Given the description of an element on the screen output the (x, y) to click on. 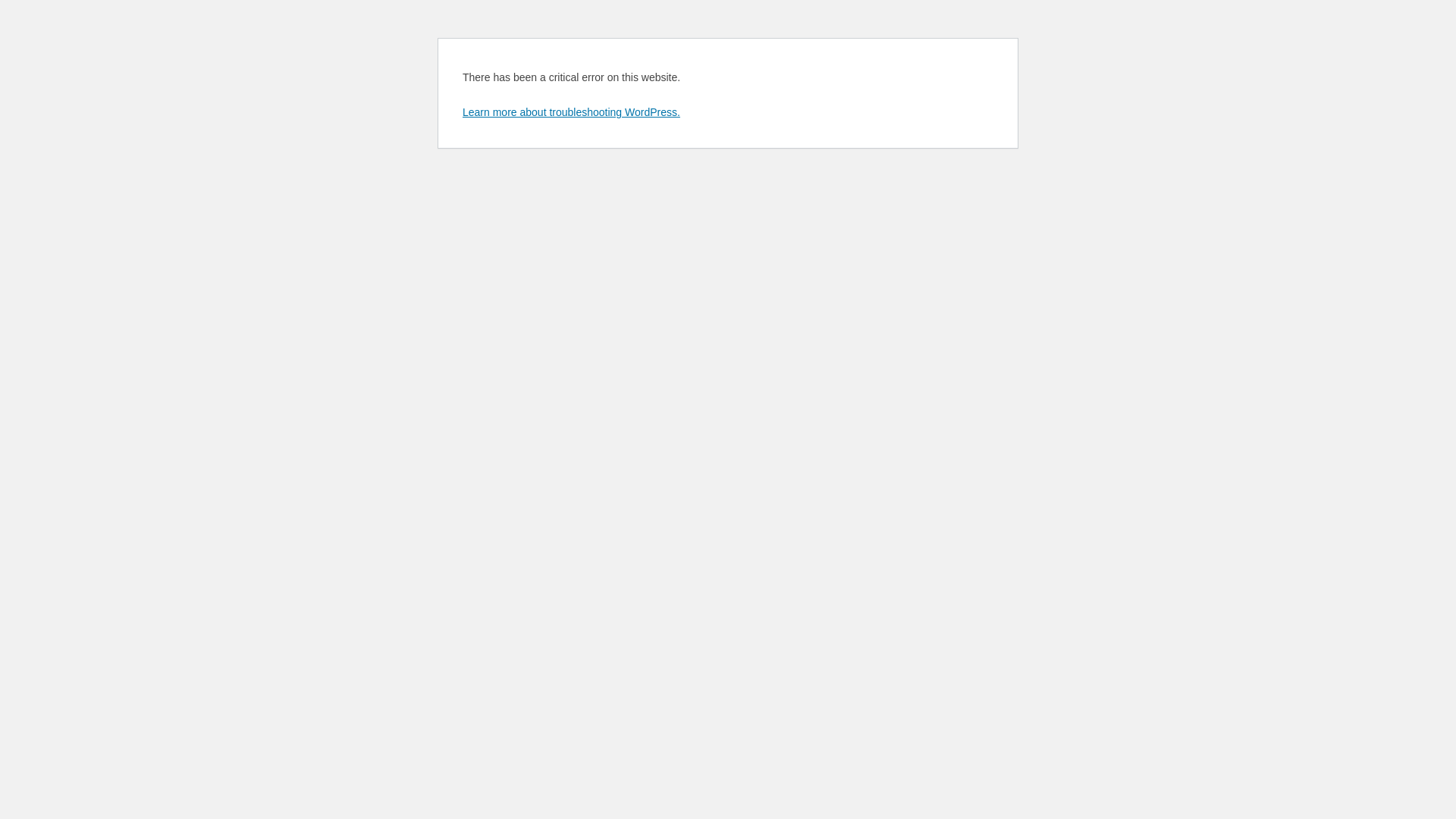
Learn more about troubleshooting WordPress. Element type: text (571, 112)
